Given the description of an element on the screen output the (x, y) to click on. 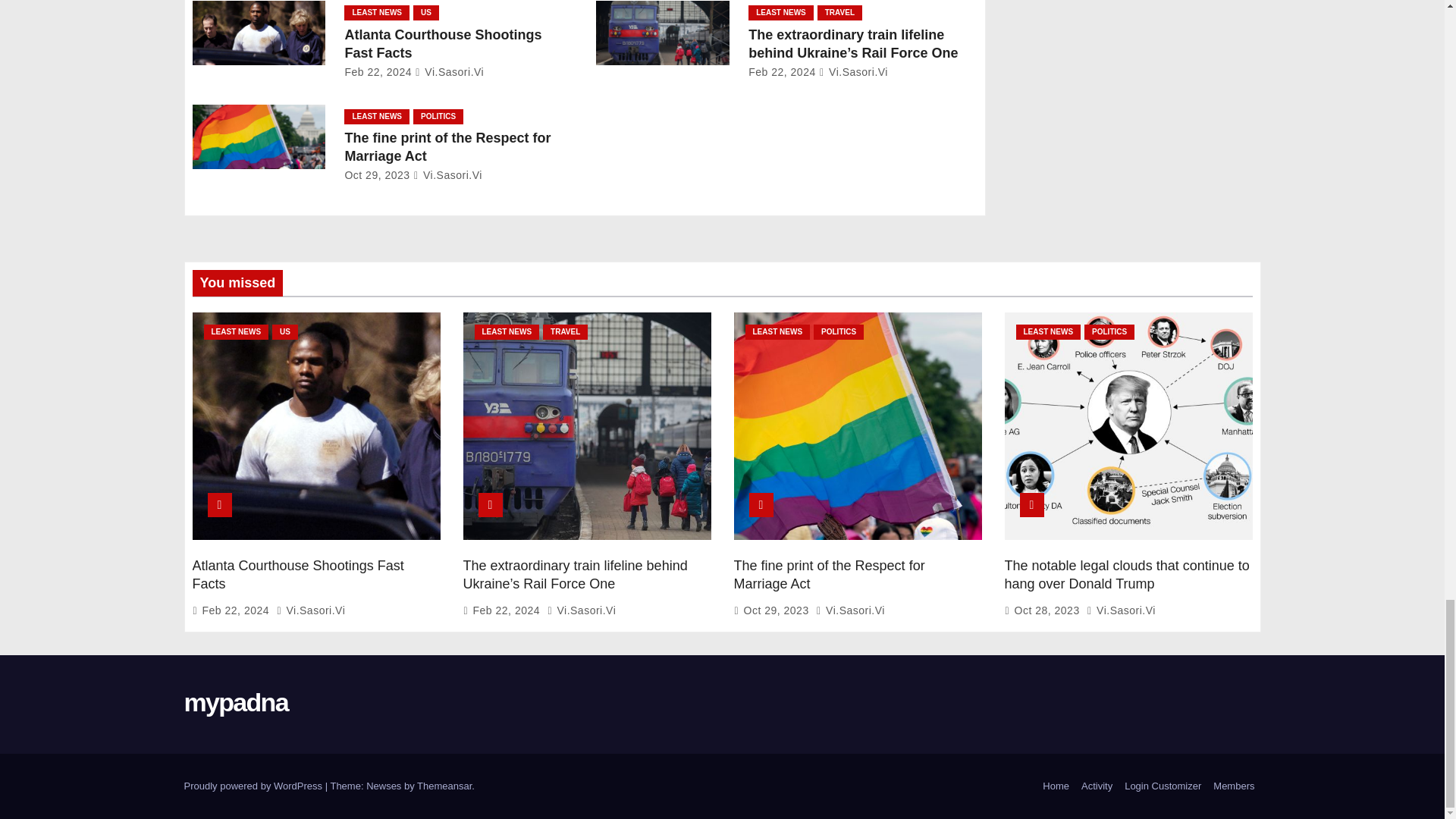
Permalink to: Atlanta Courthouse Shootings Fast Facts (442, 43)
Permalink to: The fine print of the Respect for Marriage Act (446, 146)
Permalink to: Atlanta Courthouse Shootings Fast Facts (298, 574)
Permalink to: The fine print of the Respect for Marriage Act (828, 574)
